Given the description of an element on the screen output the (x, y) to click on. 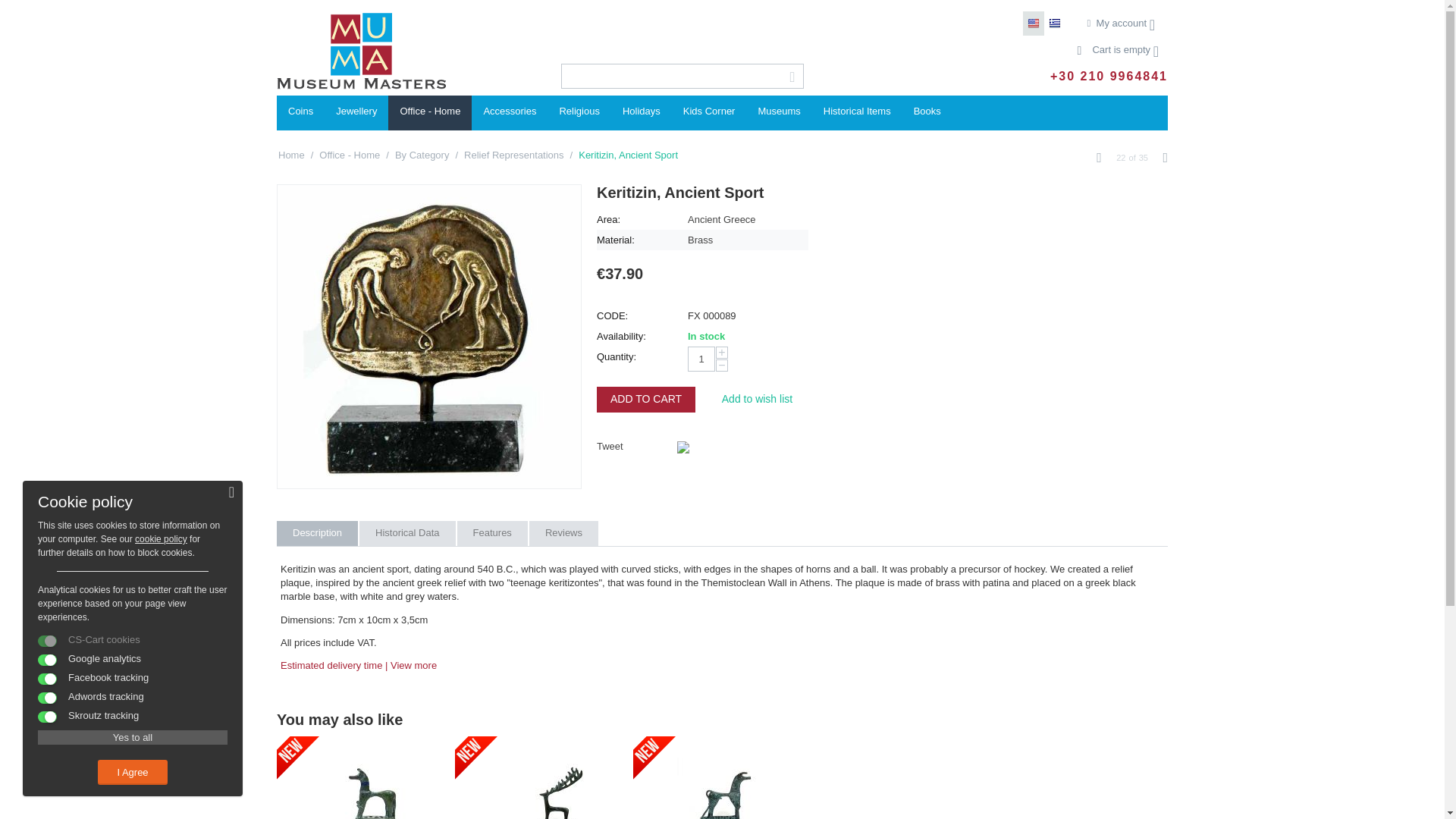
1 (700, 358)
Cart is empty (1117, 49)
  My account (1120, 22)
MuseumMaster.gr (360, 50)
Next (1164, 157)
Coins (300, 112)
Search (791, 76)
Jewellery (356, 112)
Prev (1099, 157)
Change language (1054, 23)
Change language (1033, 23)
Search products (681, 75)
